Given the description of an element on the screen output the (x, y) to click on. 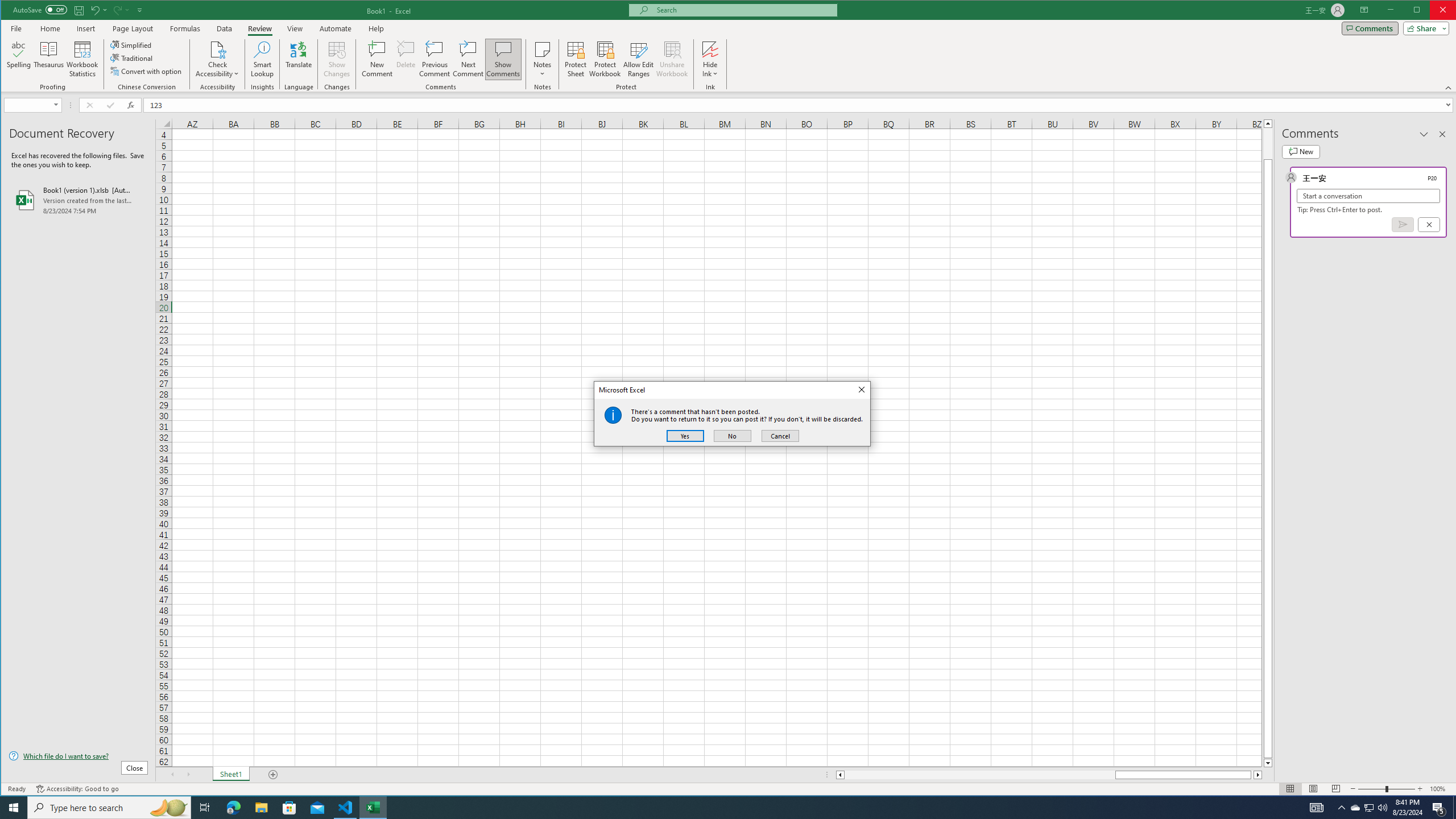
Translate (298, 59)
Book1 (version 1).xlsb  [AutoRecovered] (78, 199)
Redo (120, 9)
Undo (98, 9)
Show Changes (335, 59)
Name Box (27, 104)
New Comment (377, 59)
Check Accessibility (217, 48)
Quick Access Toolbar (79, 9)
Help (376, 28)
Column right (1258, 774)
Show desktop (1454, 807)
Sheet1 (230, 774)
Traditional (132, 57)
Undo (94, 9)
